Given the description of an element on the screen output the (x, y) to click on. 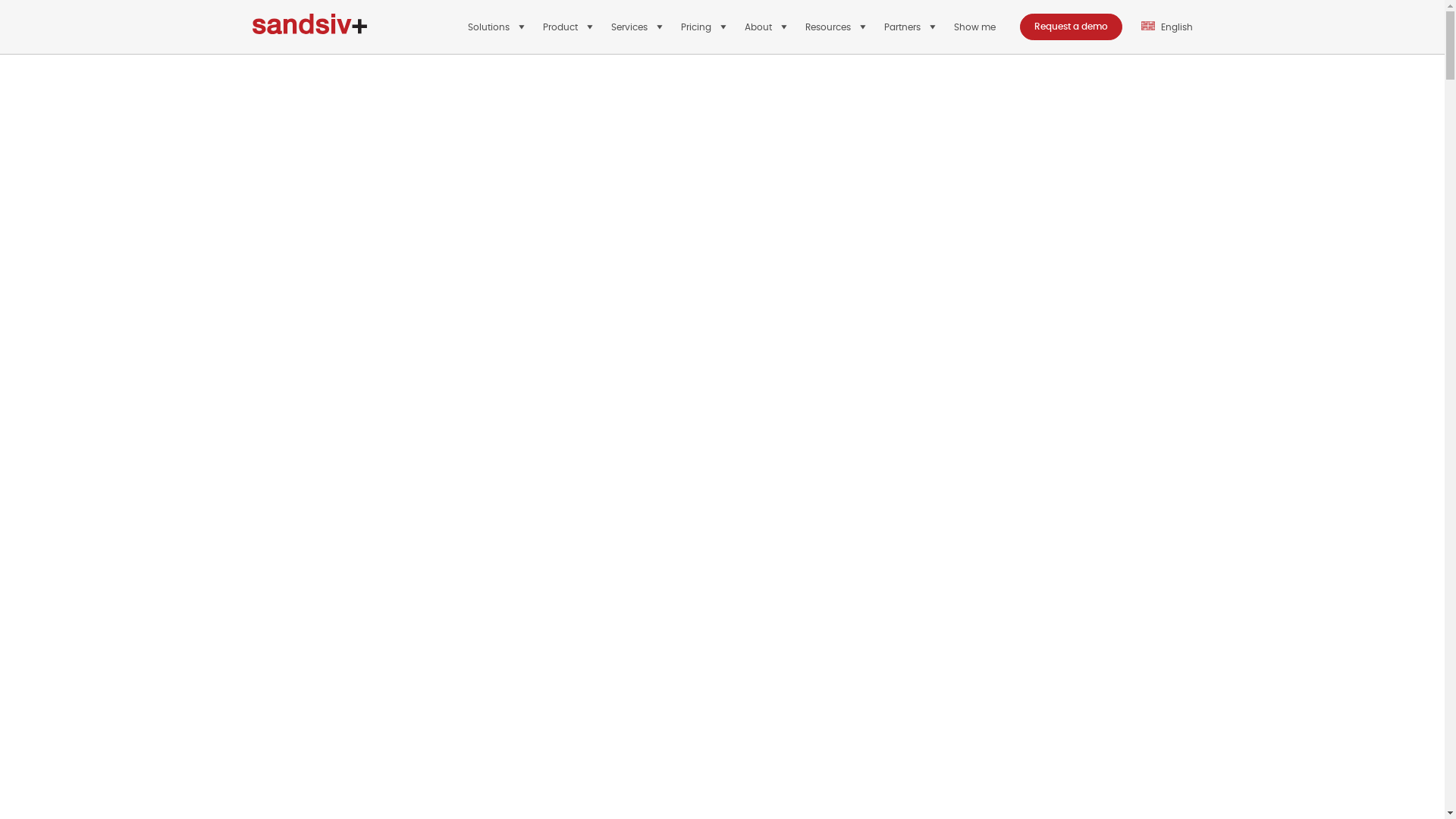
Product (569, 27)
Solutions (497, 27)
Services (638, 27)
English (1162, 26)
